Given the description of an element on the screen output the (x, y) to click on. 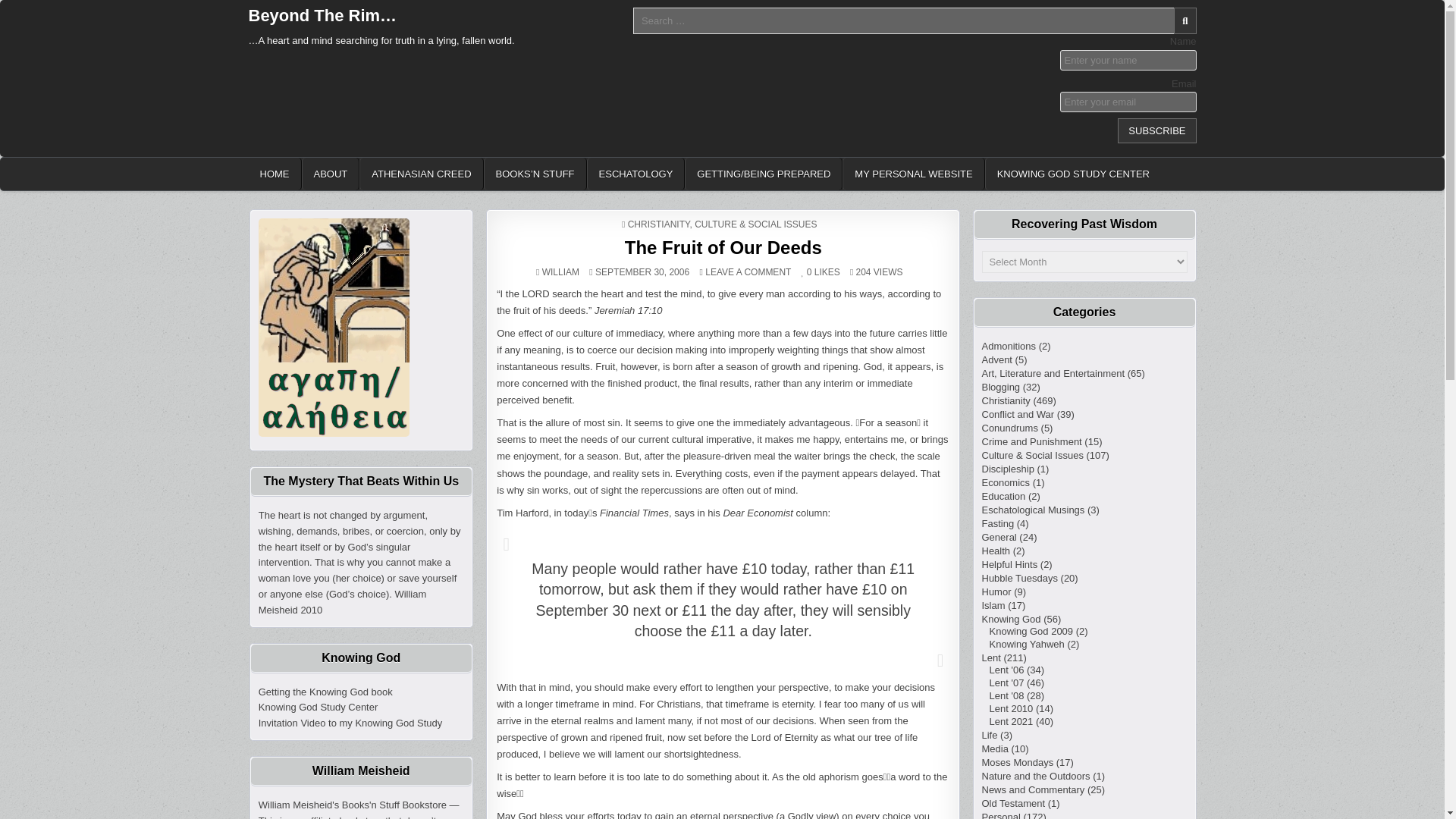
204 Views (860, 271)
ABOUT (747, 271)
CHRISTIANITY (330, 174)
WILLIAM (658, 224)
0 (560, 271)
Subscribe (807, 271)
MY PERSONAL WEBSITE (1156, 130)
The Fruit of Our Deeds (913, 174)
ATHENASIAN CREED (723, 247)
